Given the description of an element on the screen output the (x, y) to click on. 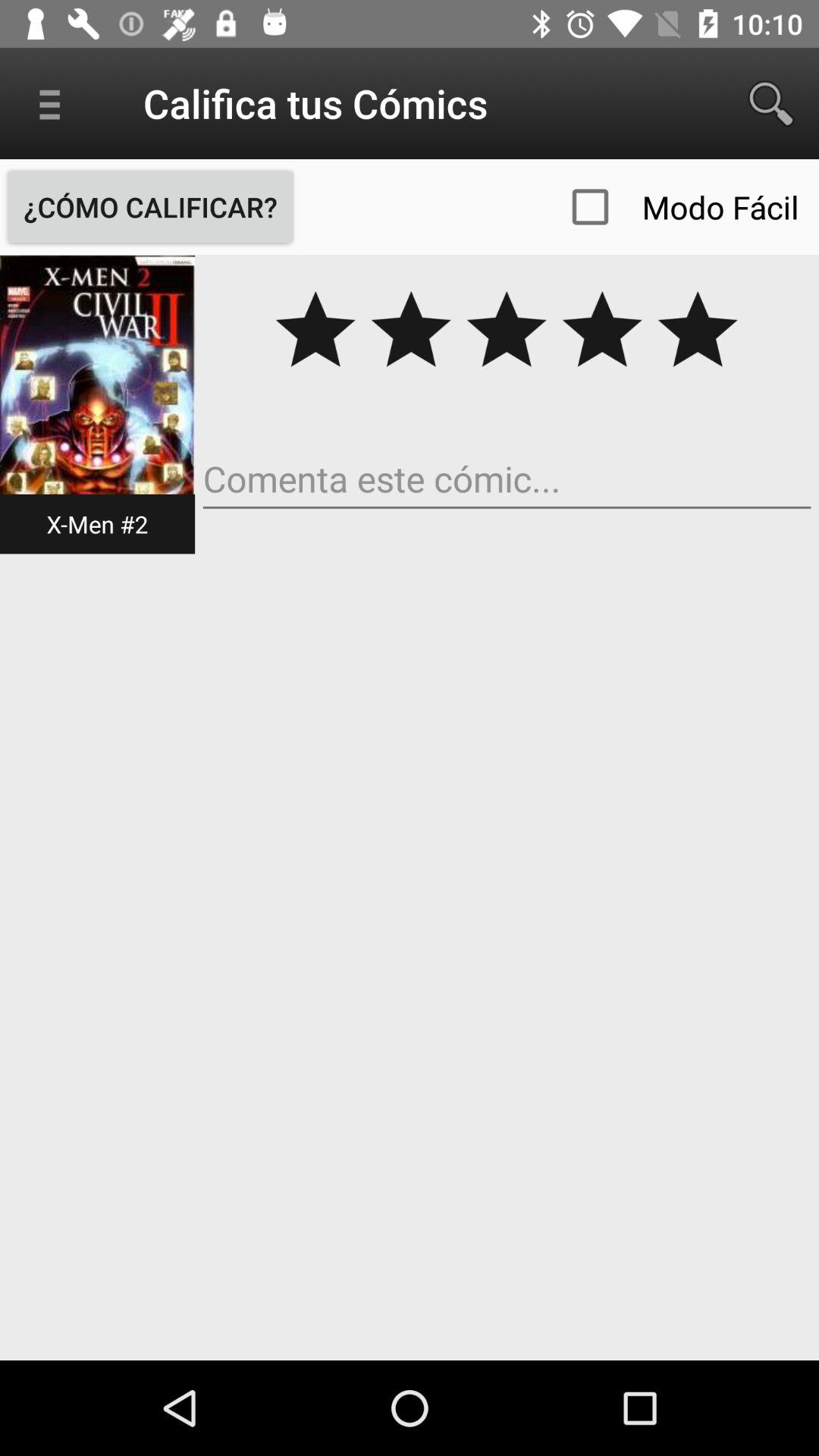
open image option (97, 403)
